Given the description of an element on the screen output the (x, y) to click on. 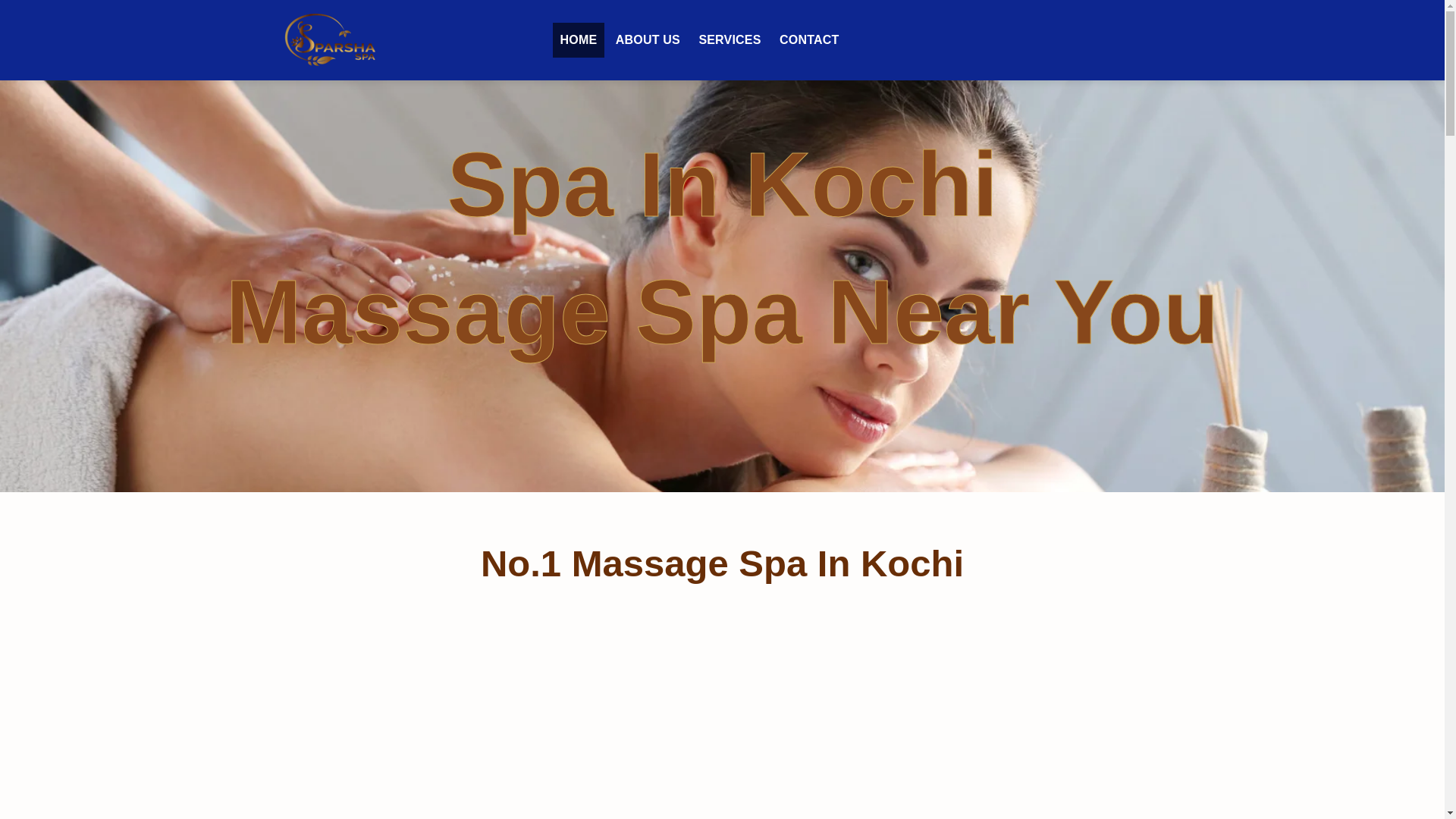
ABOUT US (647, 39)
CONTACT (808, 39)
SERVICES (729, 39)
HOME (577, 39)
